Given the description of an element on the screen output the (x, y) to click on. 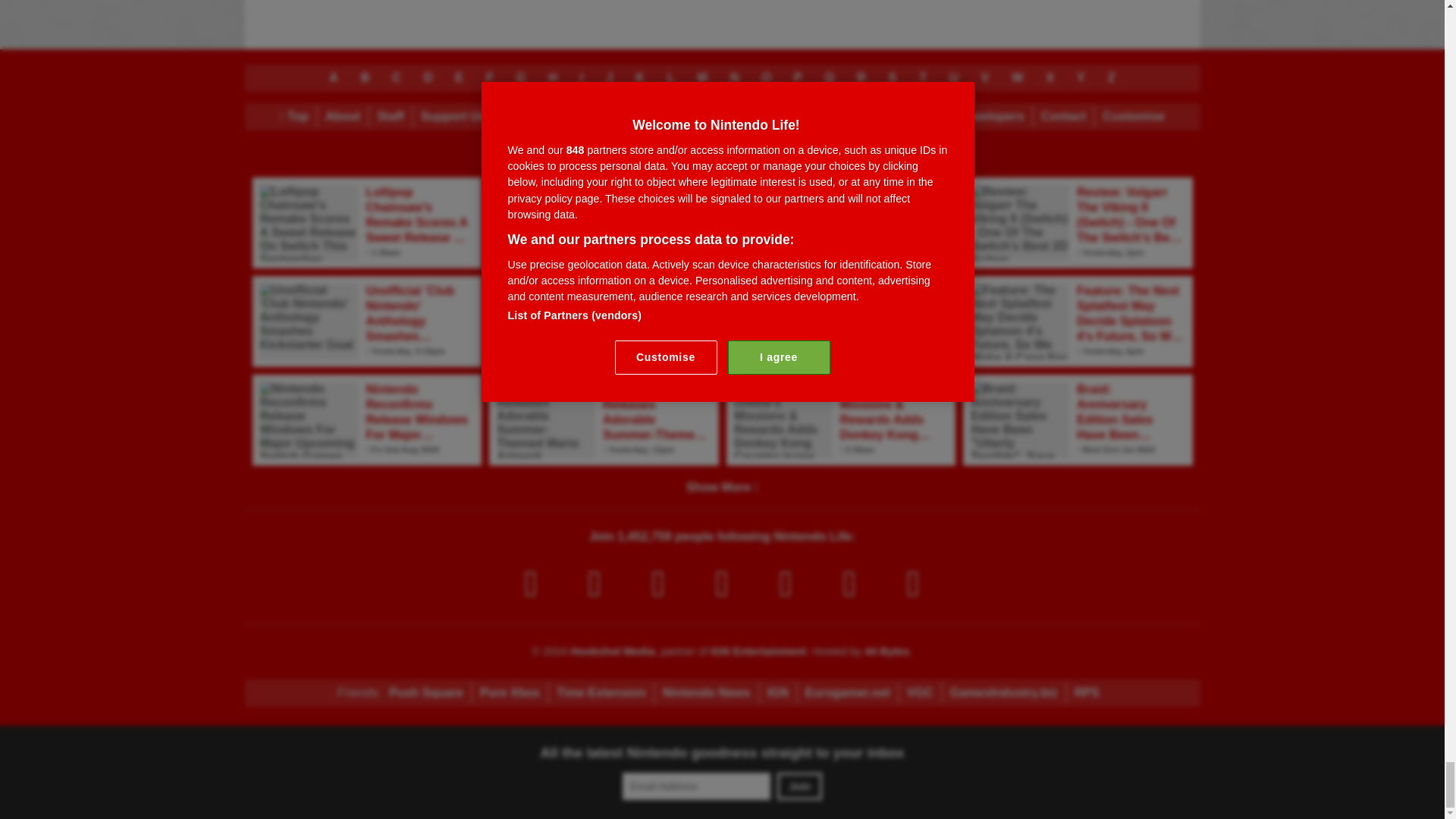
Join (799, 786)
